Given the description of an element on the screen output the (x, y) to click on. 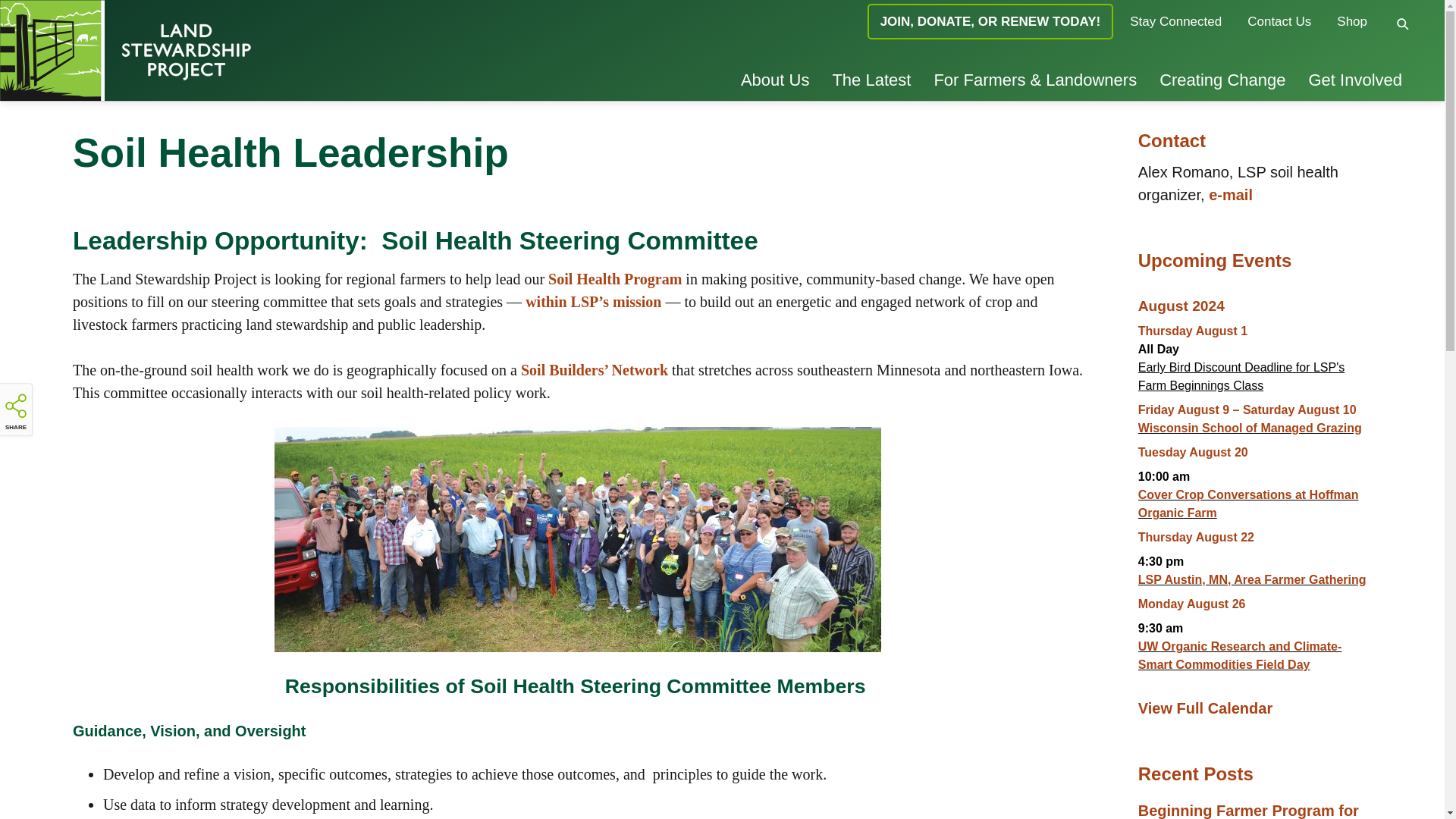
Land Stewardship Project (240, 50)
About Us (775, 79)
The Latest (871, 79)
